Given the description of an element on the screen output the (x, y) to click on. 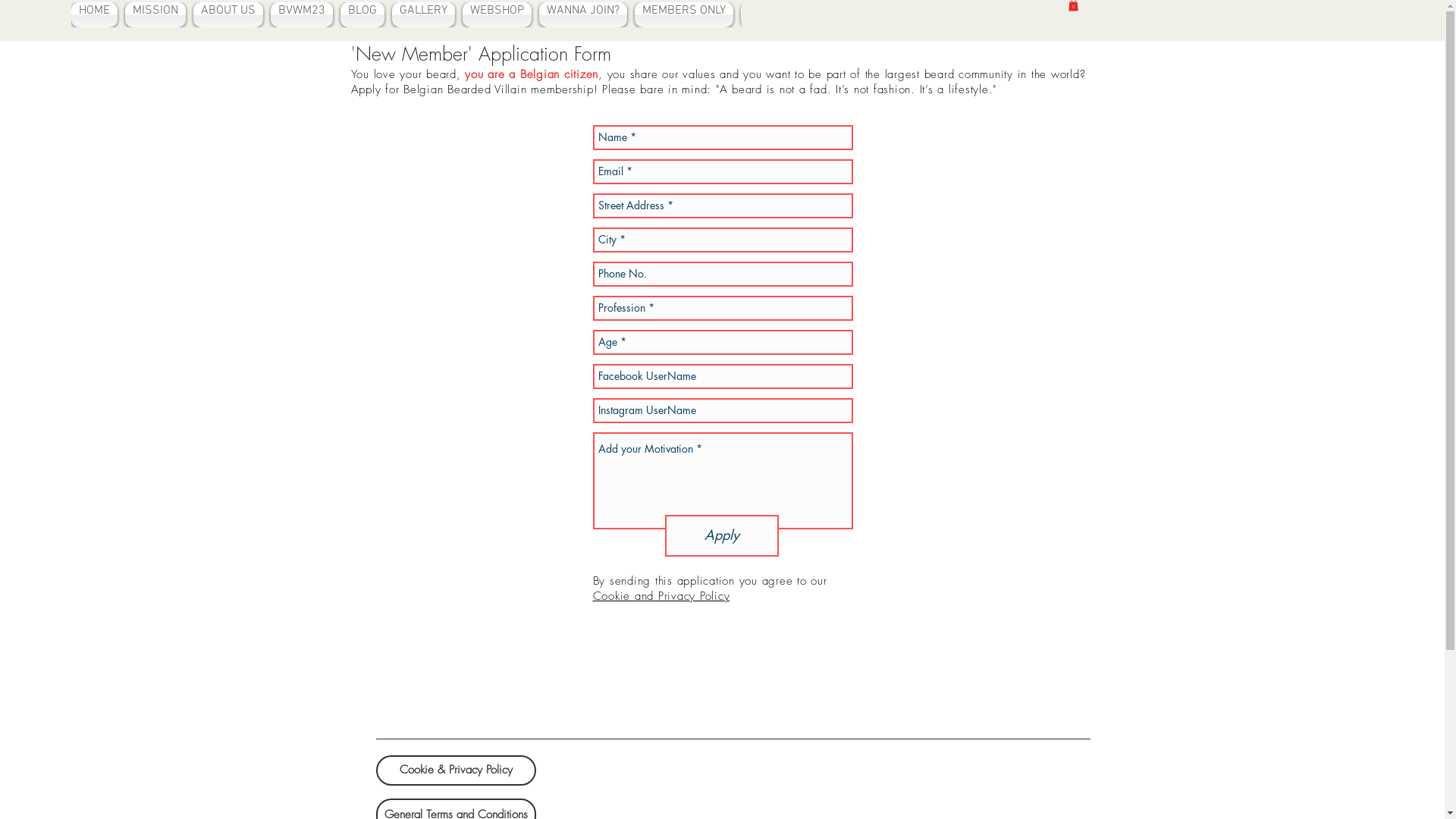
ABOUT US Element type: text (227, 14)
CONTACT Element type: text (770, 14)
BLOG Element type: text (362, 14)
Cookie & Privacy Policy Element type: text (456, 770)
HOME Element type: text (96, 14)
Cookie and Privacy Policy Element type: text (661, 595)
Apply Element type: text (721, 535)
GALLERY Element type: text (423, 14)
MISSION Element type: text (155, 14)
